Given the description of an element on the screen output the (x, y) to click on. 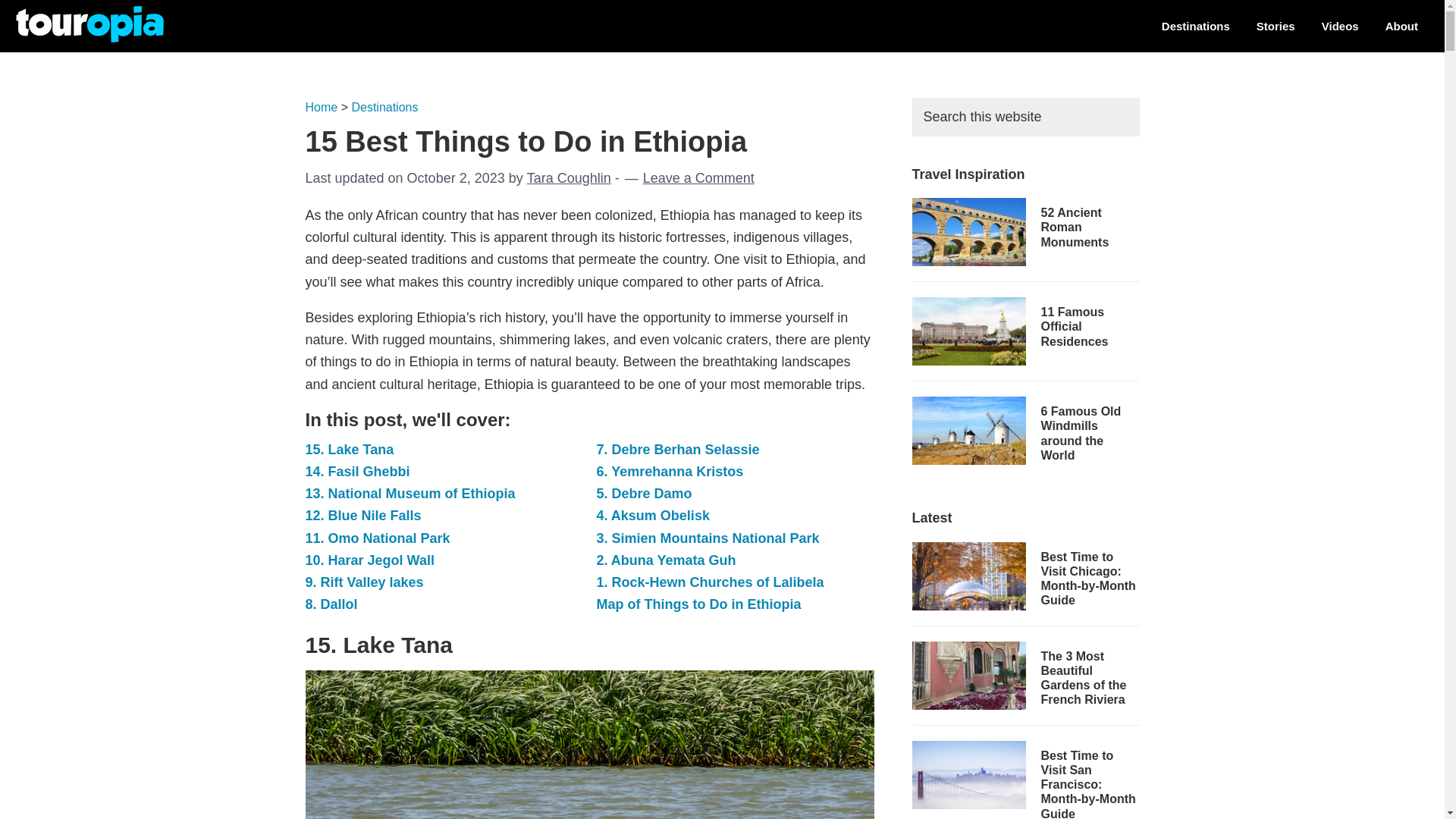
11. Omo National Park (376, 538)
10. Harar Jegol Wall (368, 560)
14. Fasil Ghebbi (356, 471)
4. Aksum Obelisk (652, 515)
Destinations (383, 106)
1. Rock-Hewn Churches of Lalibela (709, 581)
13. National Museum of Ethiopia (409, 493)
3. Simien Mountains National Park (706, 538)
15. Lake Tana (348, 449)
8. Dallol (330, 604)
7. Debre Berhan Selassie (676, 449)
4. Aksum Obelisk (652, 515)
9. Rift Valley lakes (363, 581)
Destinations (1195, 25)
